Given the description of an element on the screen output the (x, y) to click on. 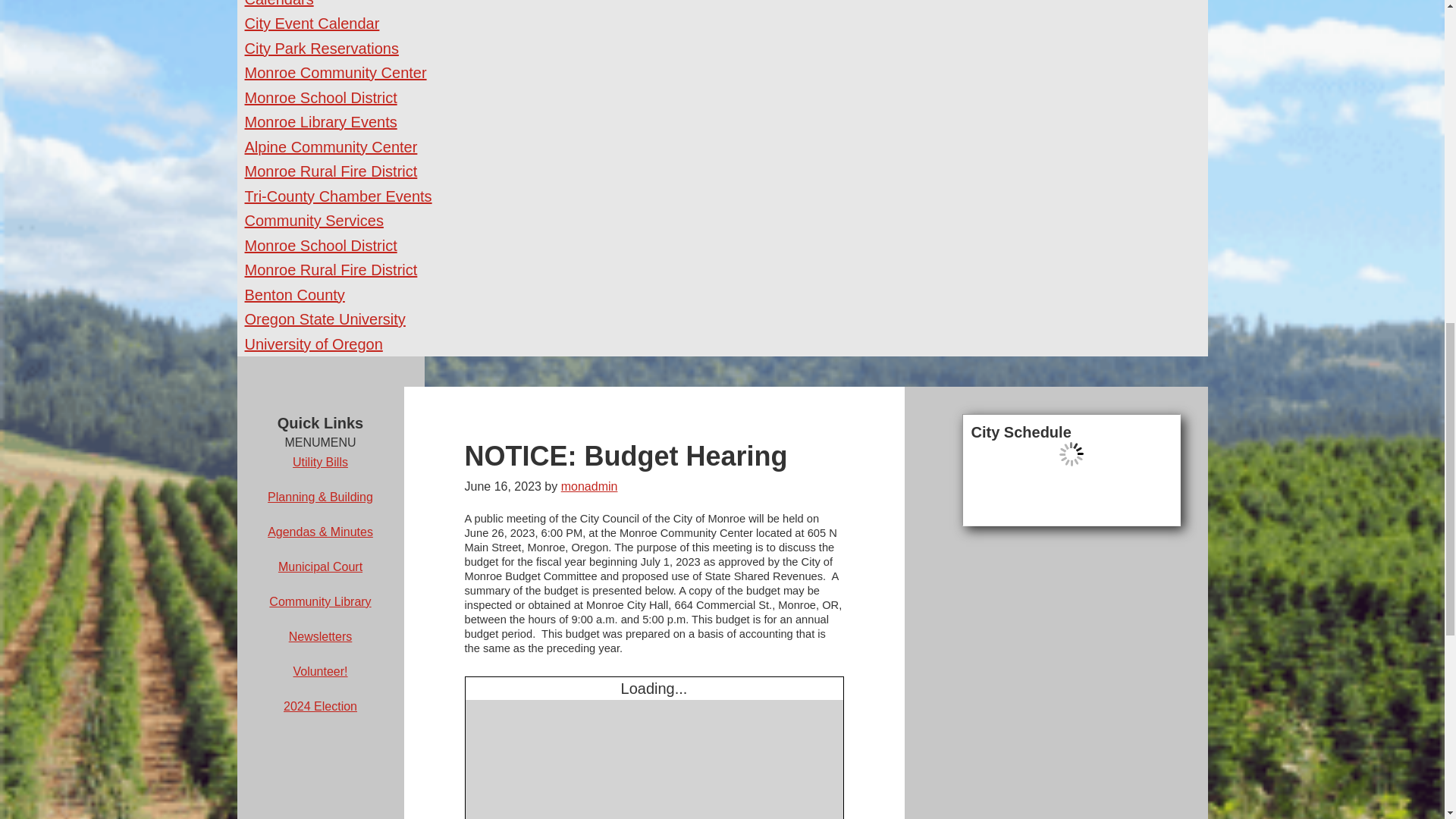
Monroe Community Center (335, 72)
Alpine Community Center (330, 146)
Monroe School District (320, 97)
Monroe Rural Fire District (330, 170)
City Park Reservations (320, 47)
Monroe Library Events (320, 121)
City Event Calendar (311, 23)
Calendars (278, 3)
